Given the description of an element on the screen output the (x, y) to click on. 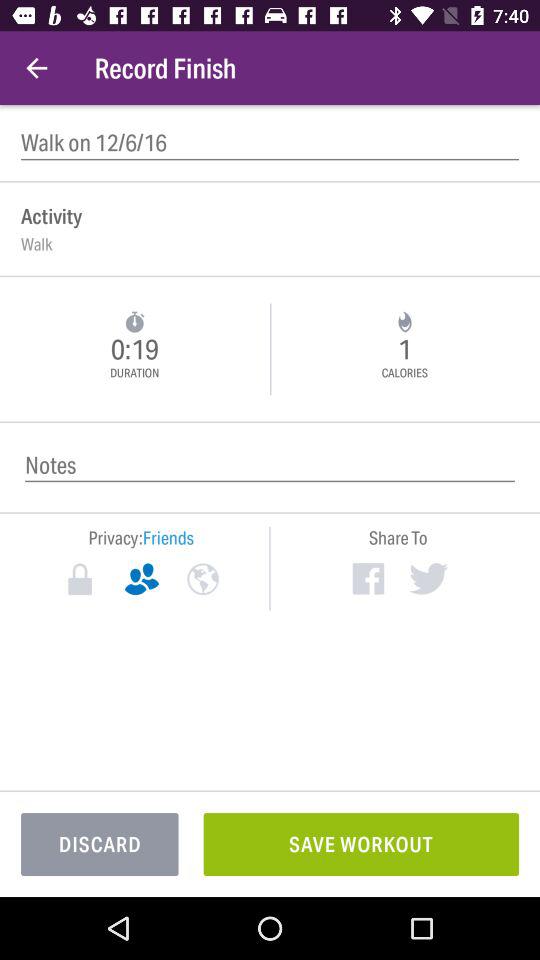
share the article (368, 578)
